Given the description of an element on the screen output the (x, y) to click on. 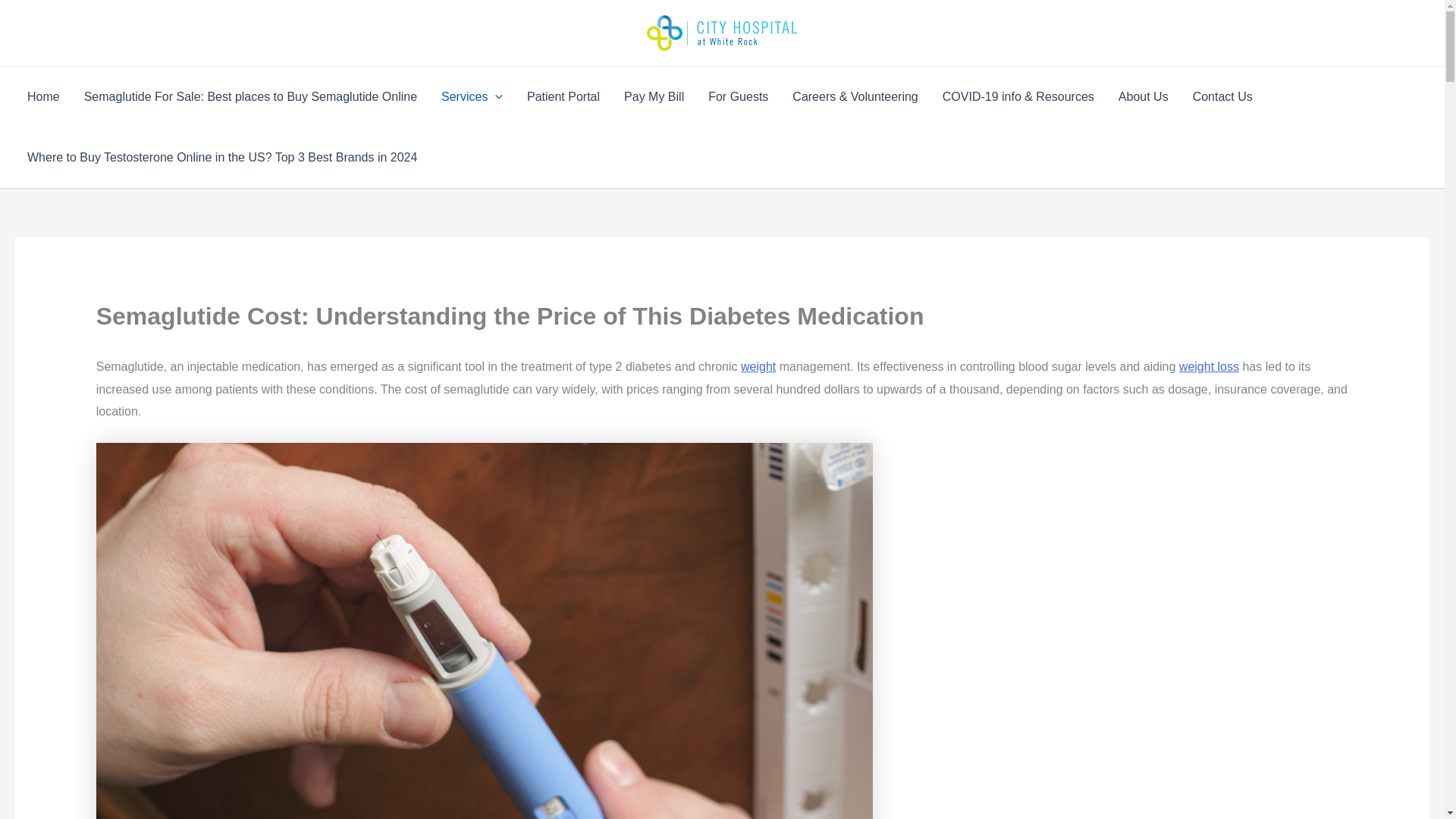
Services (472, 96)
Home (42, 96)
Patient Portal (563, 96)
For Guests (737, 96)
About Us (1143, 96)
Contact Us (1222, 96)
Pay My Bill (653, 96)
Semaglutide For Sale: Best places to Buy Semaglutide Online (250, 96)
